Given the description of an element on the screen output the (x, y) to click on. 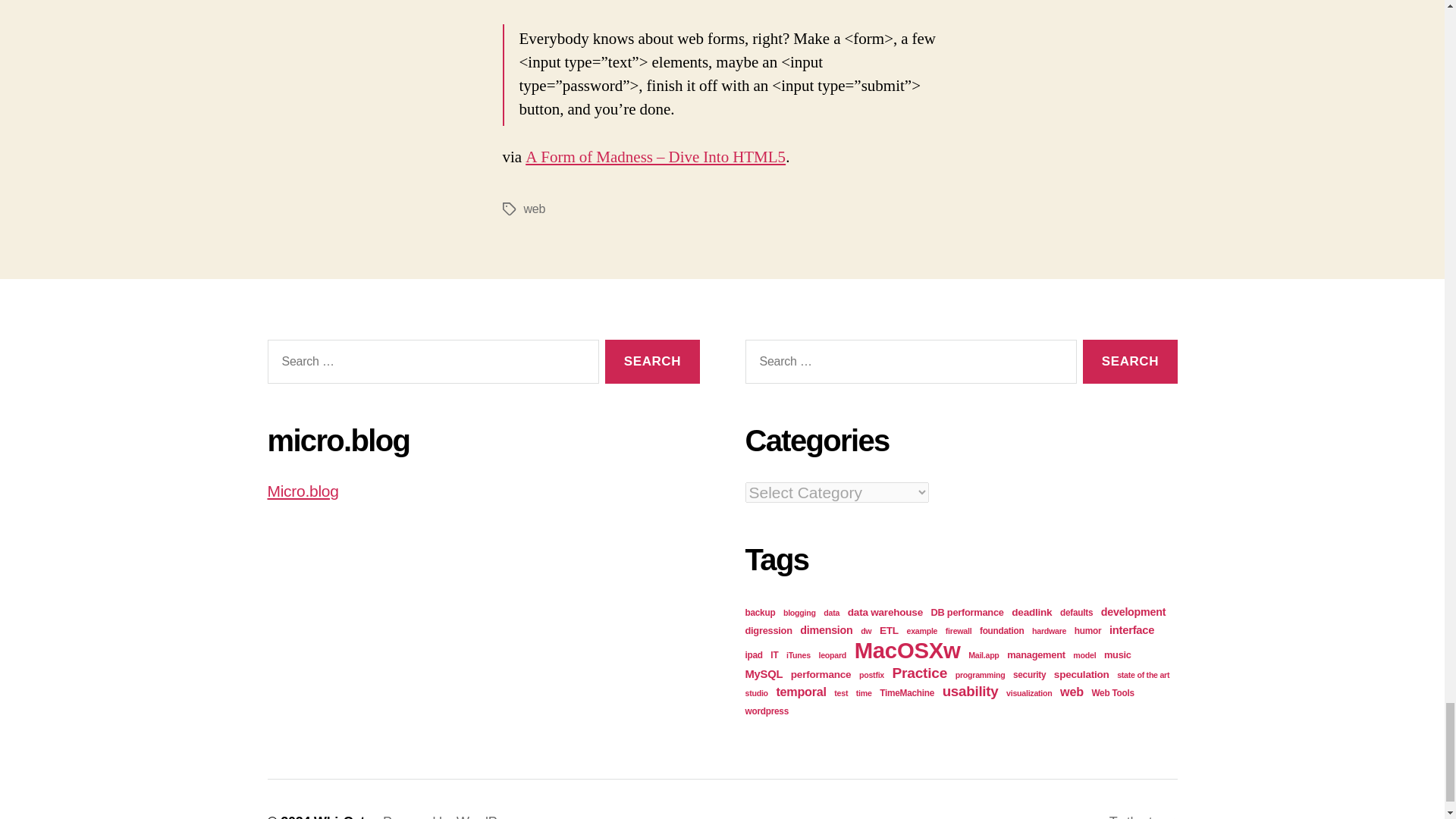
Search (651, 361)
Search (1129, 361)
Search (651, 361)
Search (1129, 361)
